Given the description of an element on the screen output the (x, y) to click on. 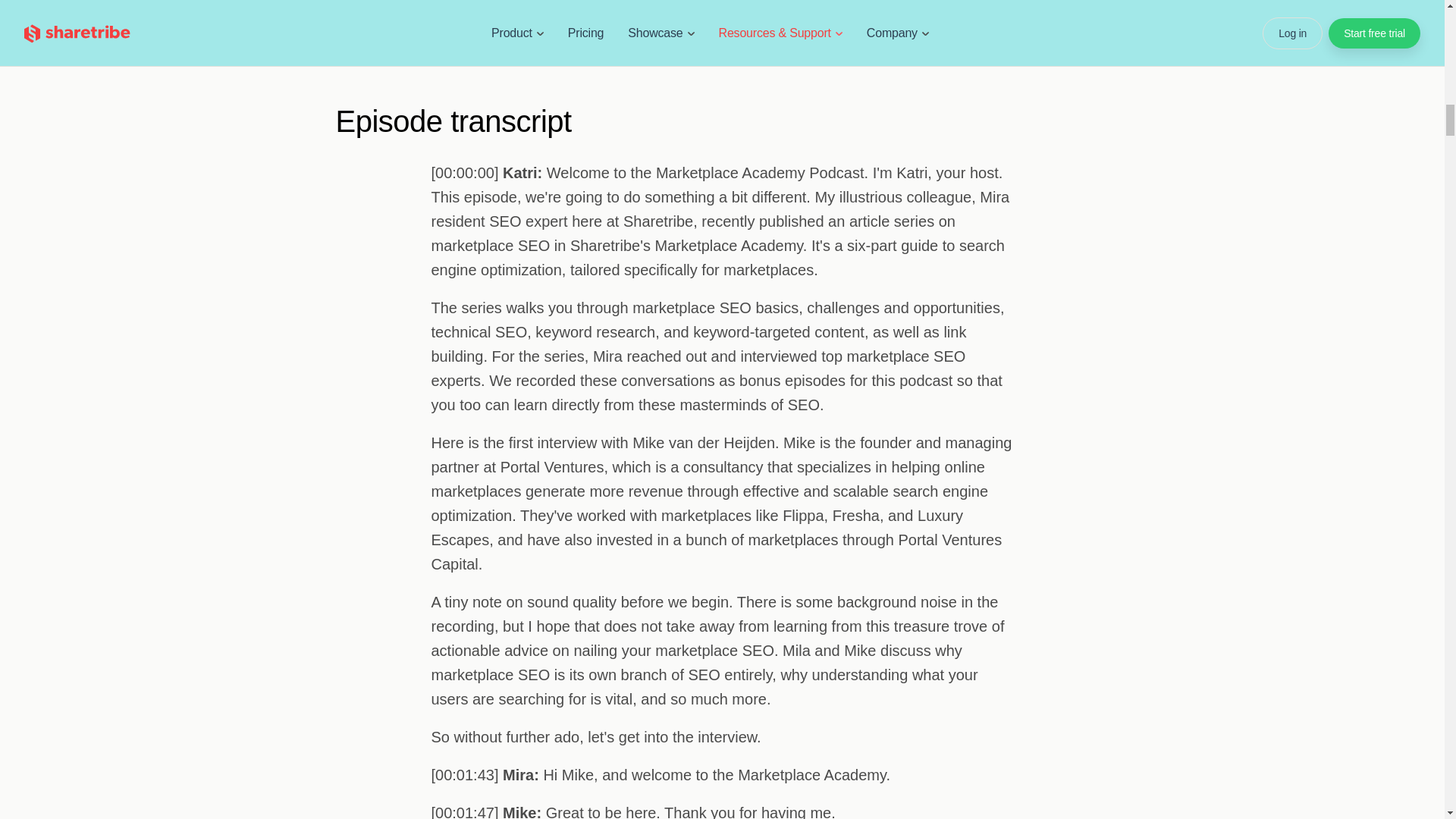
complete guide to marketplace SEO (596, 40)
